Given the description of an element on the screen output the (x, y) to click on. 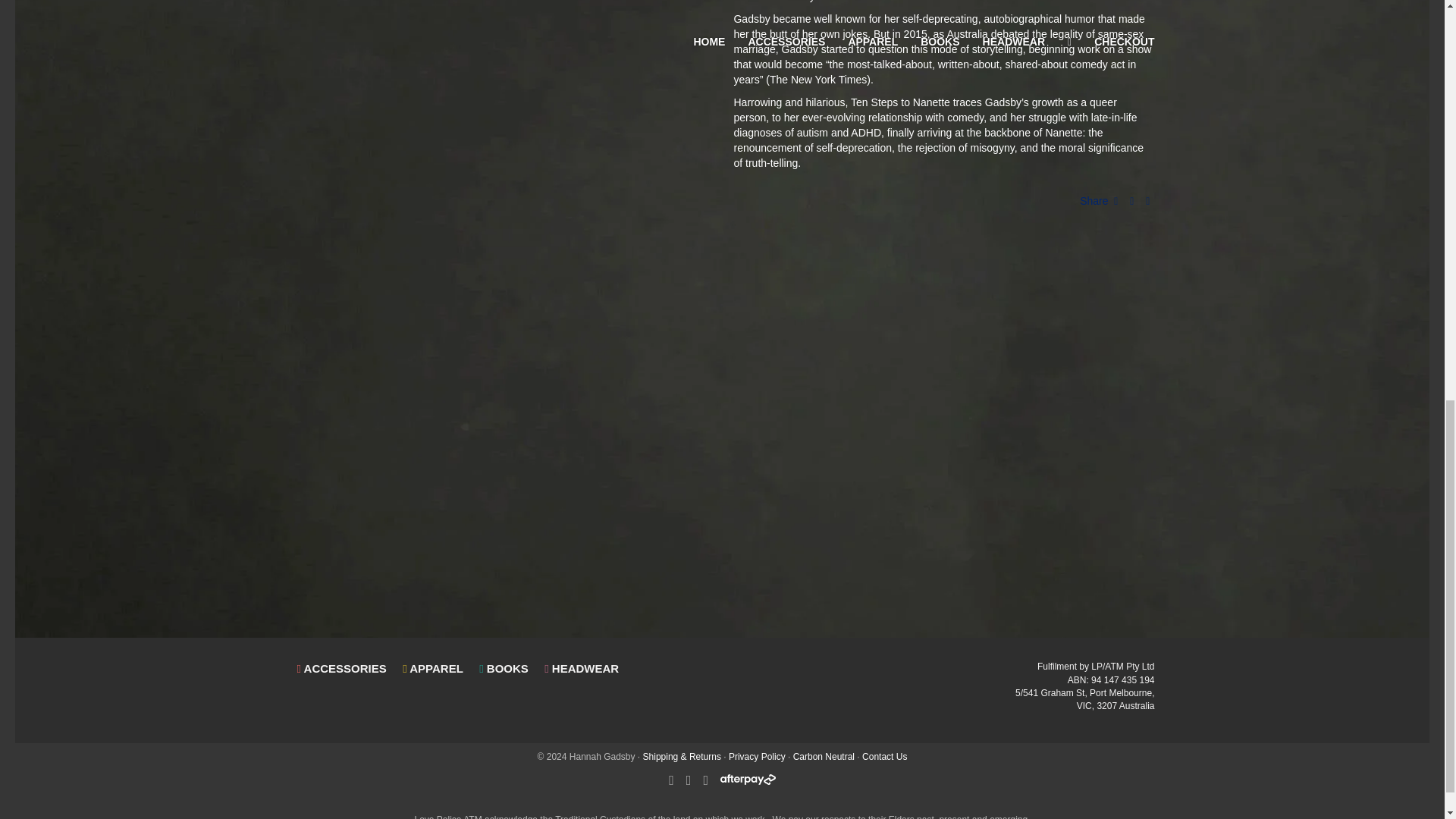
 BOOKS (503, 669)
Privacy policy (757, 756)
Carbon Neutral (823, 756)
 APPAREL (433, 669)
 ACCESSORIES (341, 669)
 HEADWEAR (581, 669)
Our commitment to carbon neutral shipping (823, 756)
Contact Us (884, 756)
Privacy Policy (757, 756)
Share   (1098, 201)
Contact Us (884, 756)
